Given the description of an element on the screen output the (x, y) to click on. 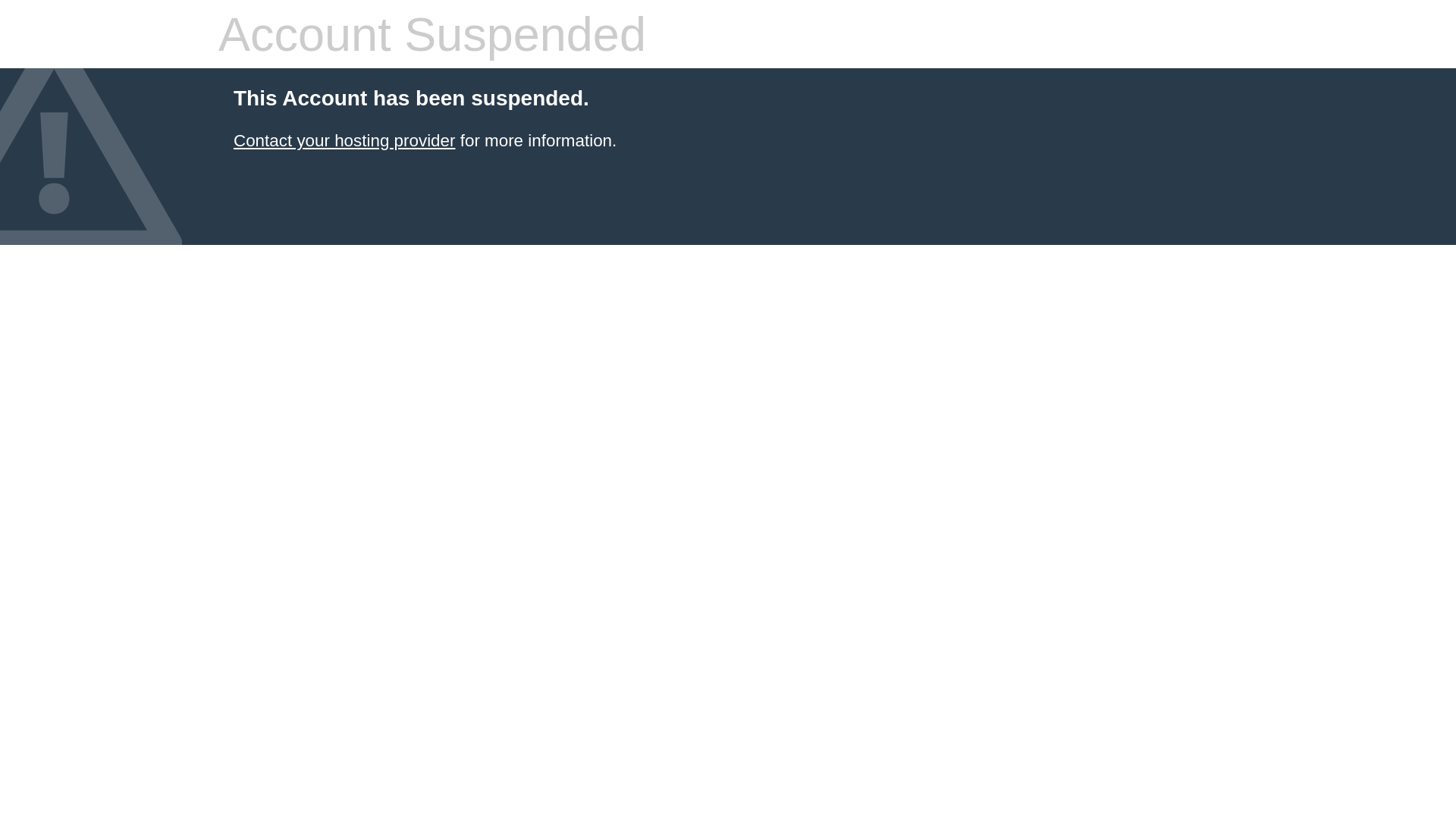
Contact your hosting provider Element type: text (344, 140)
